Given the description of an element on the screen output the (x, y) to click on. 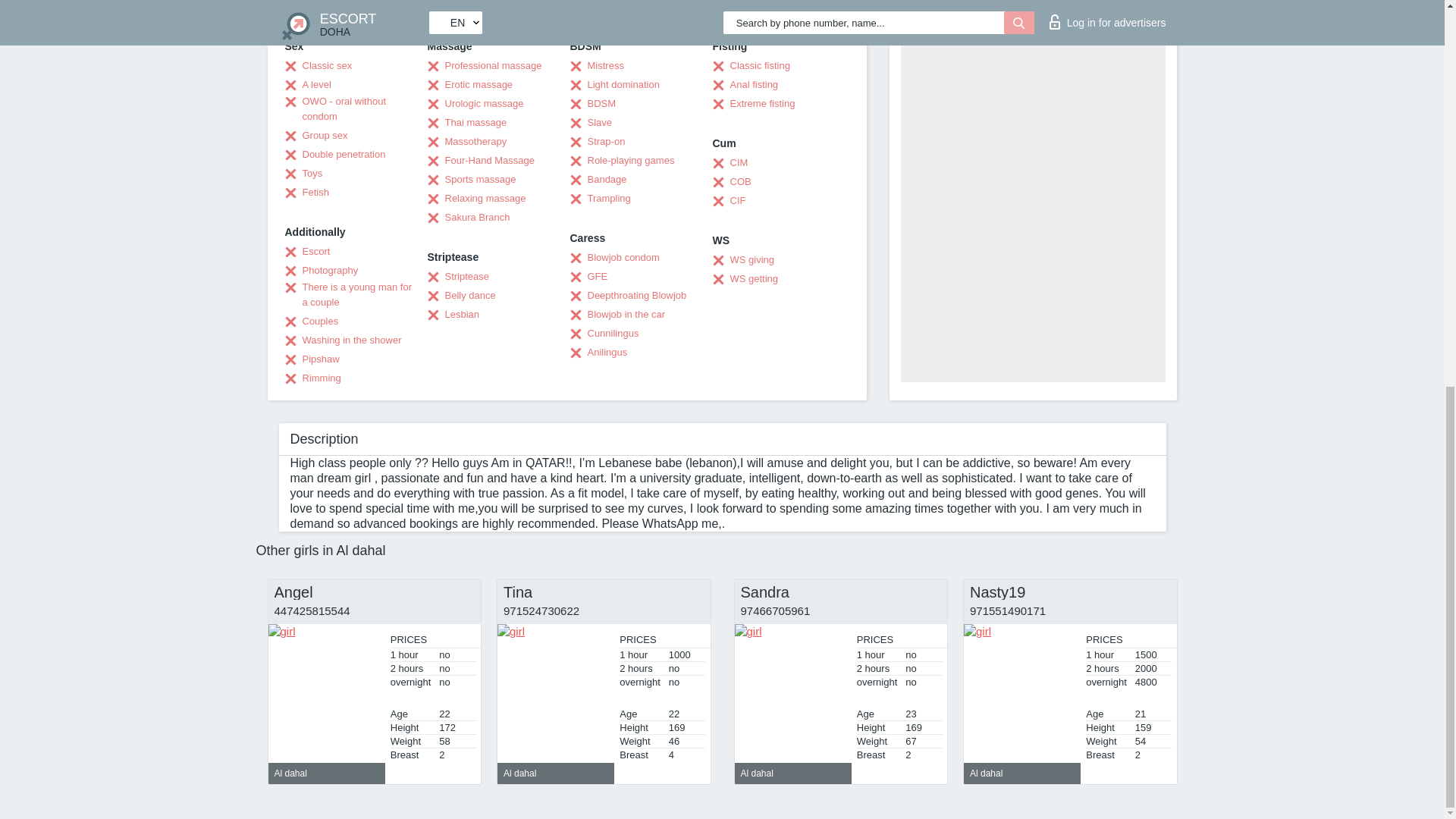
Toys (304, 173)
Erotic massage (470, 84)
Photography (321, 270)
Escort (307, 251)
Urologic massage (476, 103)
Pipshaw (312, 359)
Thai massage (467, 122)
A level (308, 84)
There is a young man for a couple (350, 295)
OWO - oral without condom (350, 109)
